Given the description of an element on the screen output the (x, y) to click on. 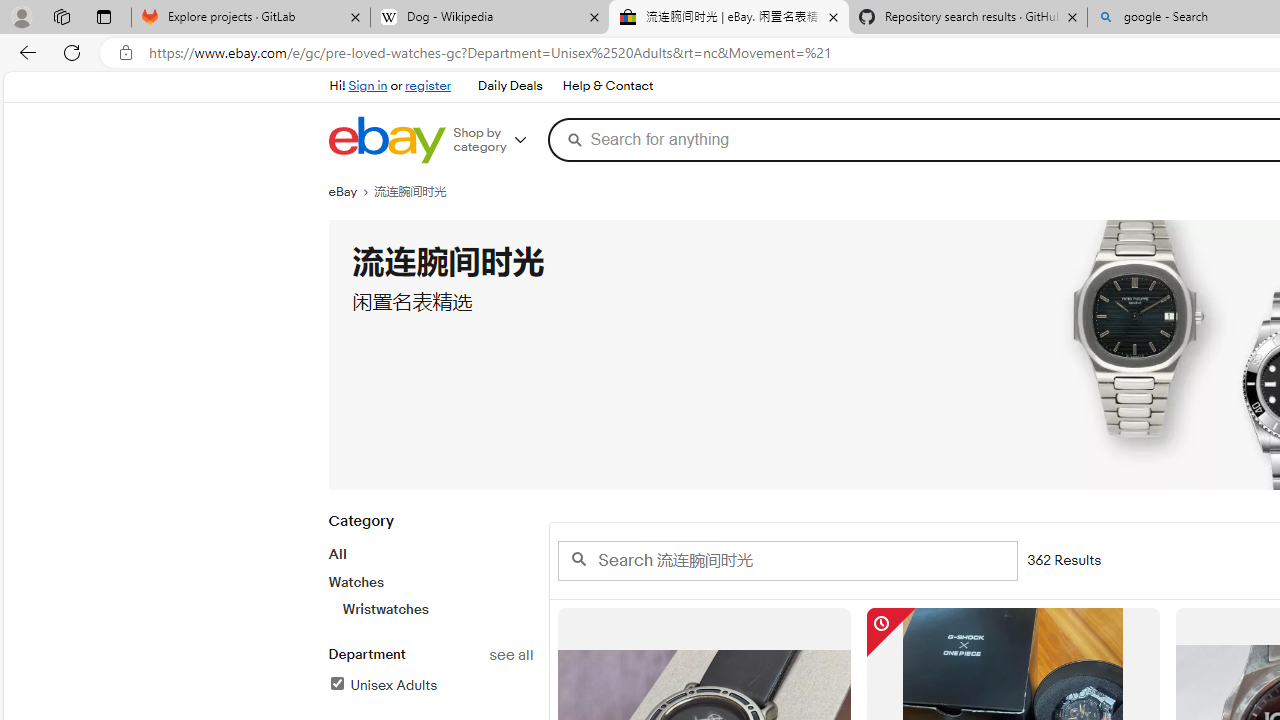
Help & Contact (606, 85)
Daily Deals (509, 85)
register (427, 85)
eBay (351, 191)
CategoryAllWatchesWristwatches (430, 576)
eBay Home (386, 139)
All (336, 554)
WatchesWristwatches (430, 595)
